Given the description of an element on the screen output the (x, y) to click on. 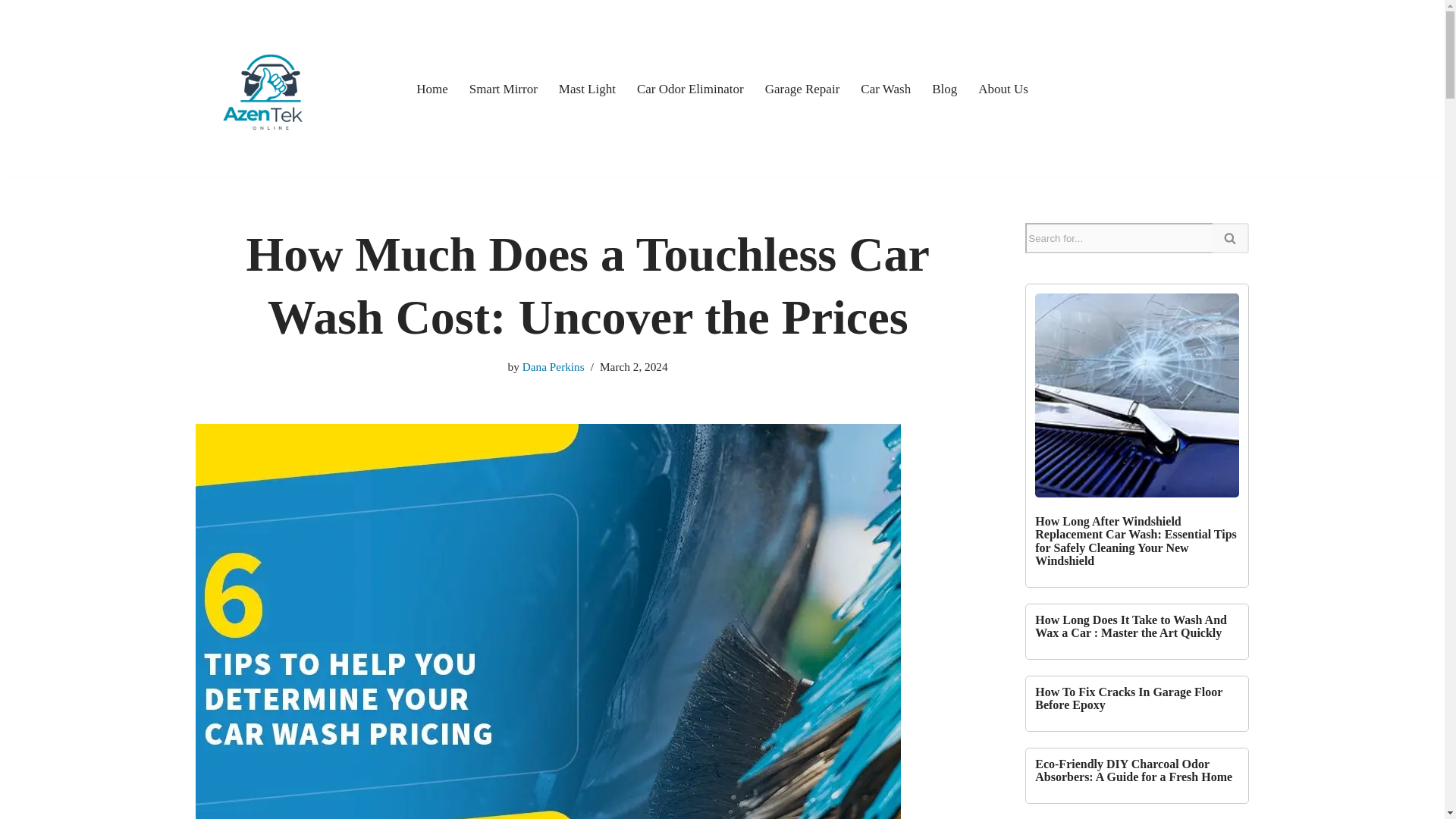
Home (432, 88)
Dana Perkins (553, 366)
Blog (943, 88)
Car Wash (885, 88)
Garage Repair (802, 88)
Mast Light (587, 88)
Car Odor Eliminator (690, 88)
Posts by Dana Perkins (553, 366)
Smart Mirror (502, 88)
Skip to content (11, 31)
